Given the description of an element on the screen output the (x, y) to click on. 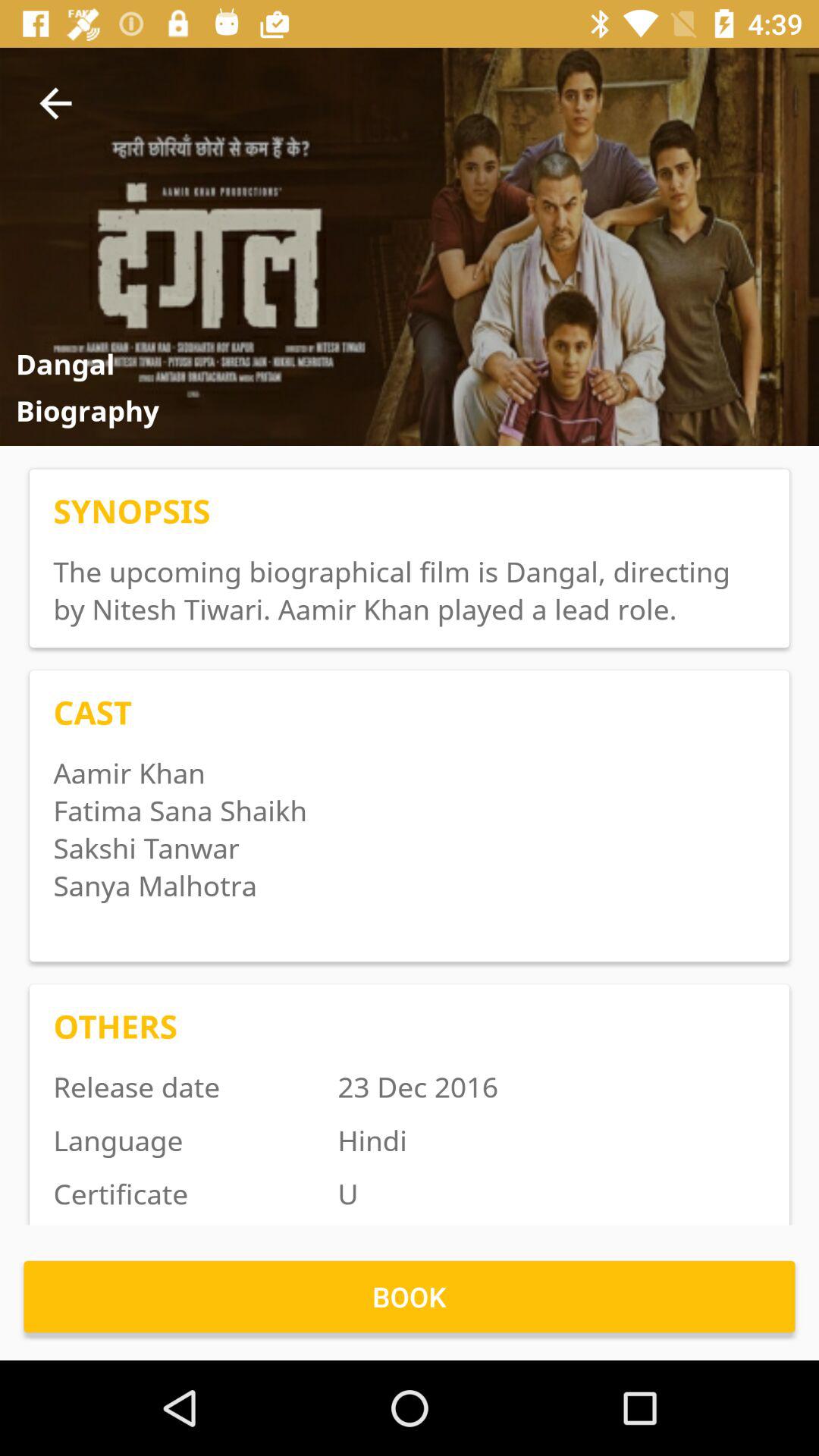
press the item next to   item (55, 103)
